Given the description of an element on the screen output the (x, y) to click on. 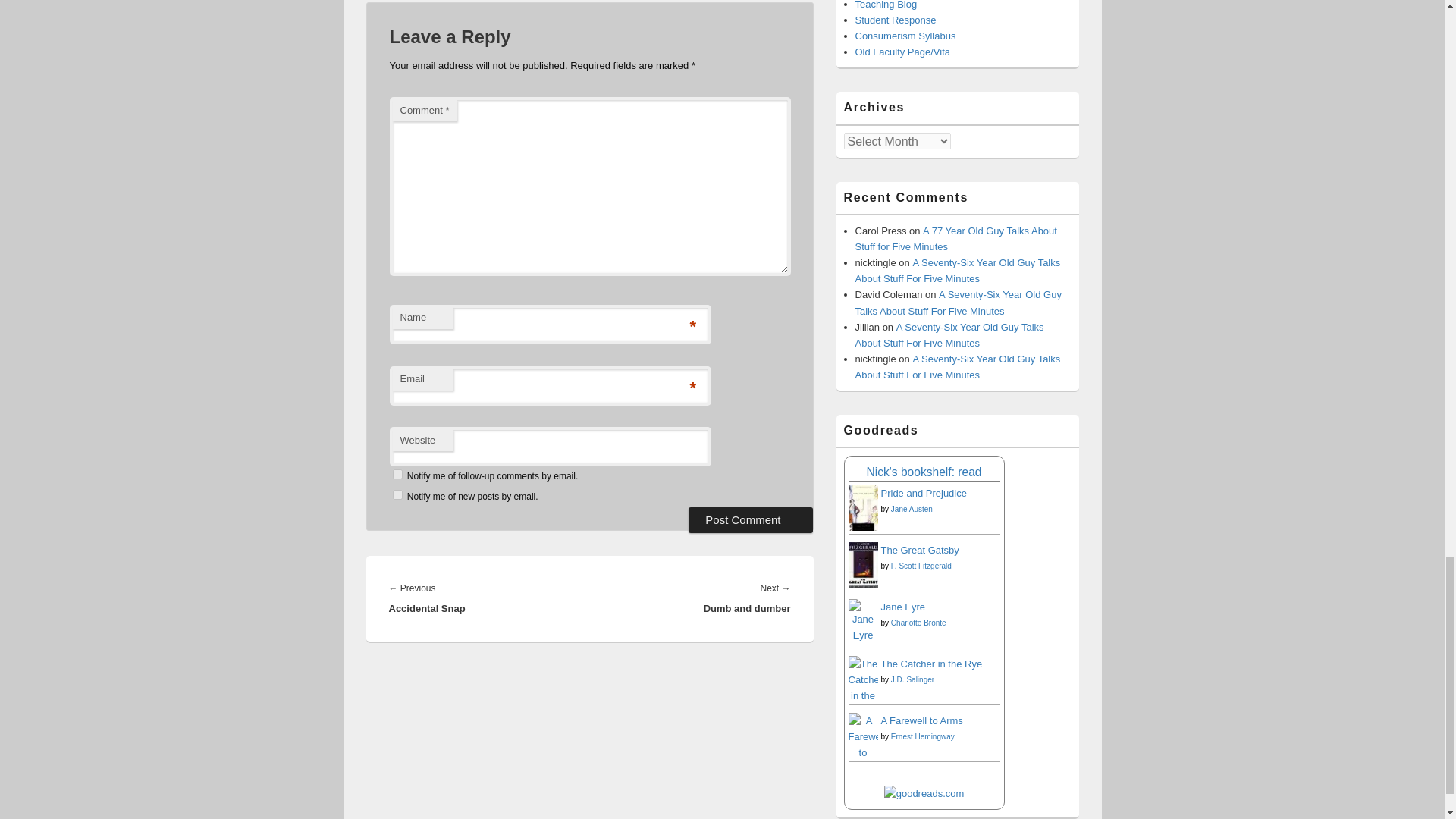
subscribe (398, 494)
Pride and Prejudice (862, 527)
Post Comment (750, 519)
Jane Eyre (862, 634)
subscribe (398, 474)
Post Comment (750, 519)
The Great Gatsby (862, 584)
